Given the description of an element on the screen output the (x, y) to click on. 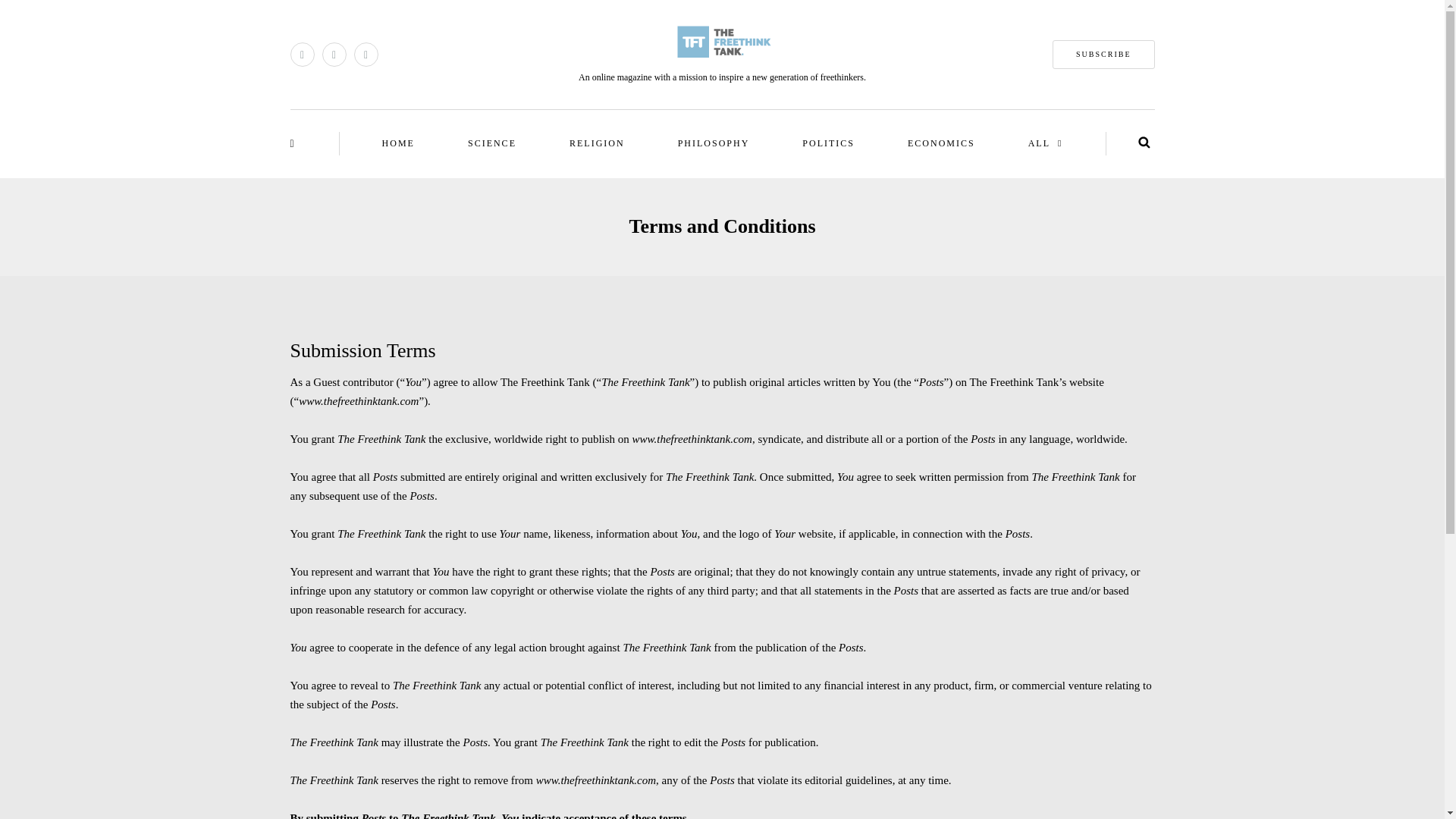
POLITICS (828, 143)
PHILOSOPHY (714, 143)
ALL (1046, 143)
ECONOMICS (941, 143)
SUBSCRIBE (1103, 54)
SCIENCE (491, 143)
HOME (398, 143)
RELIGION (597, 143)
